Given the description of an element on the screen output the (x, y) to click on. 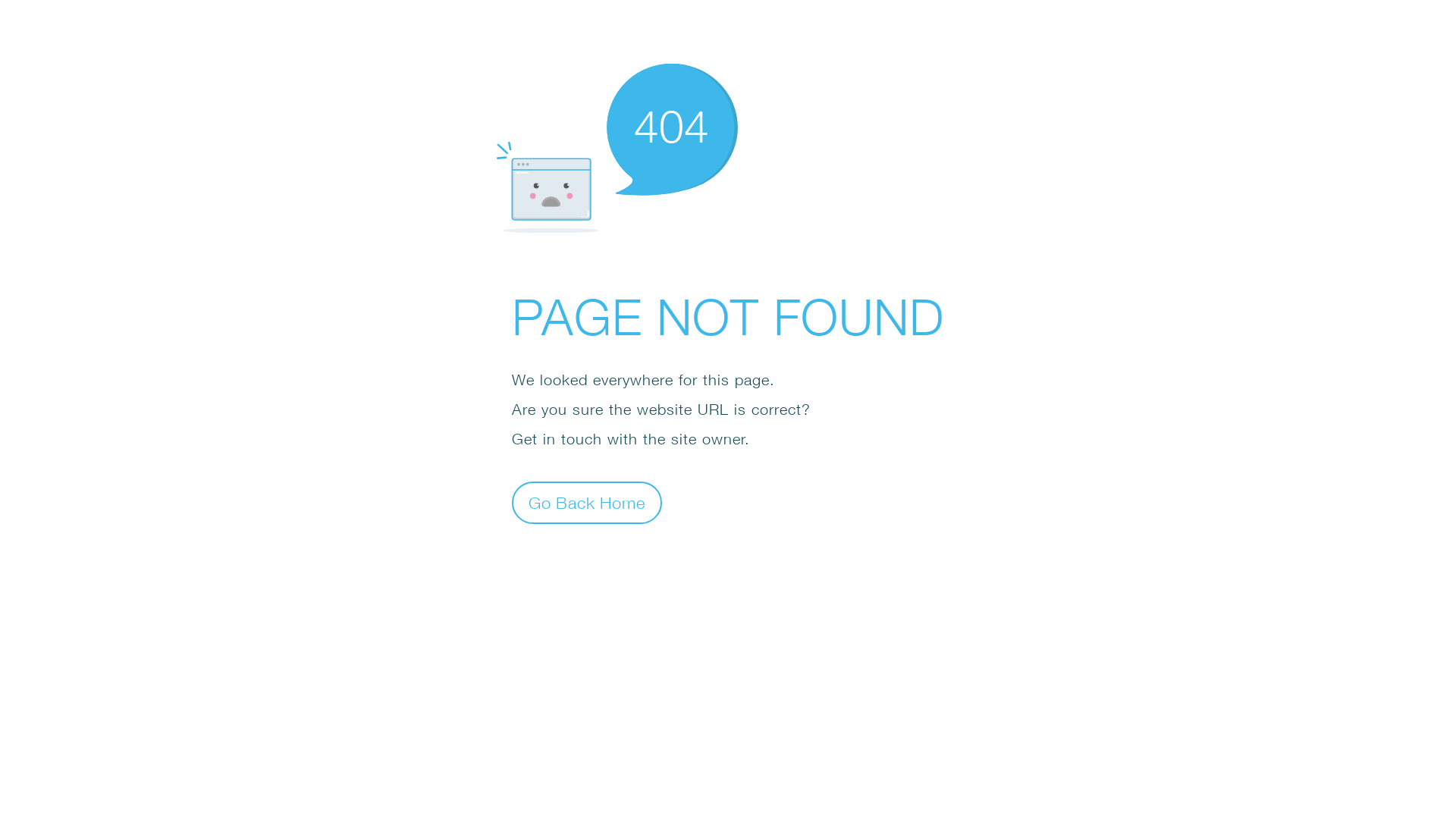
Go Back Home Element type: text (586, 502)
